Given the description of an element on the screen output the (x, y) to click on. 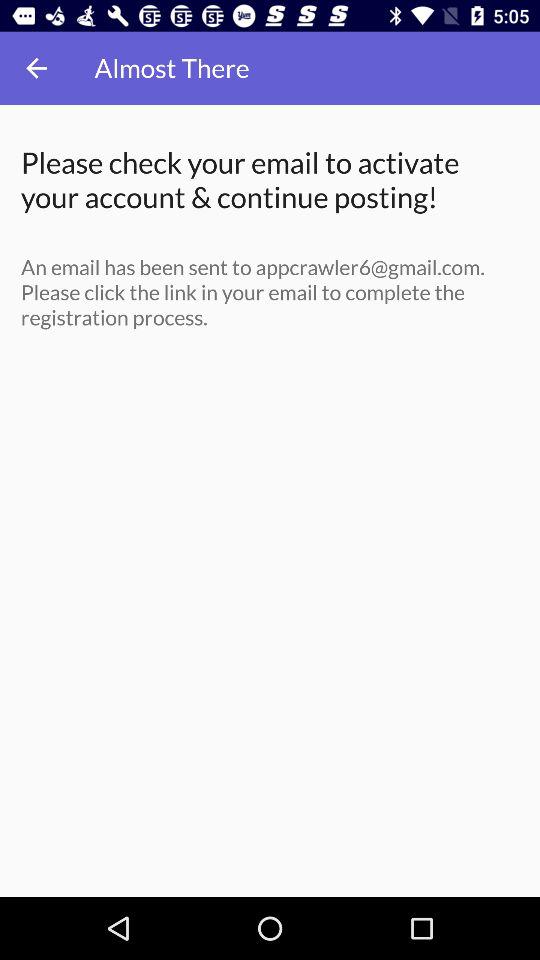
press icon to the left of the almost there (36, 68)
